Given the description of an element on the screen output the (x, y) to click on. 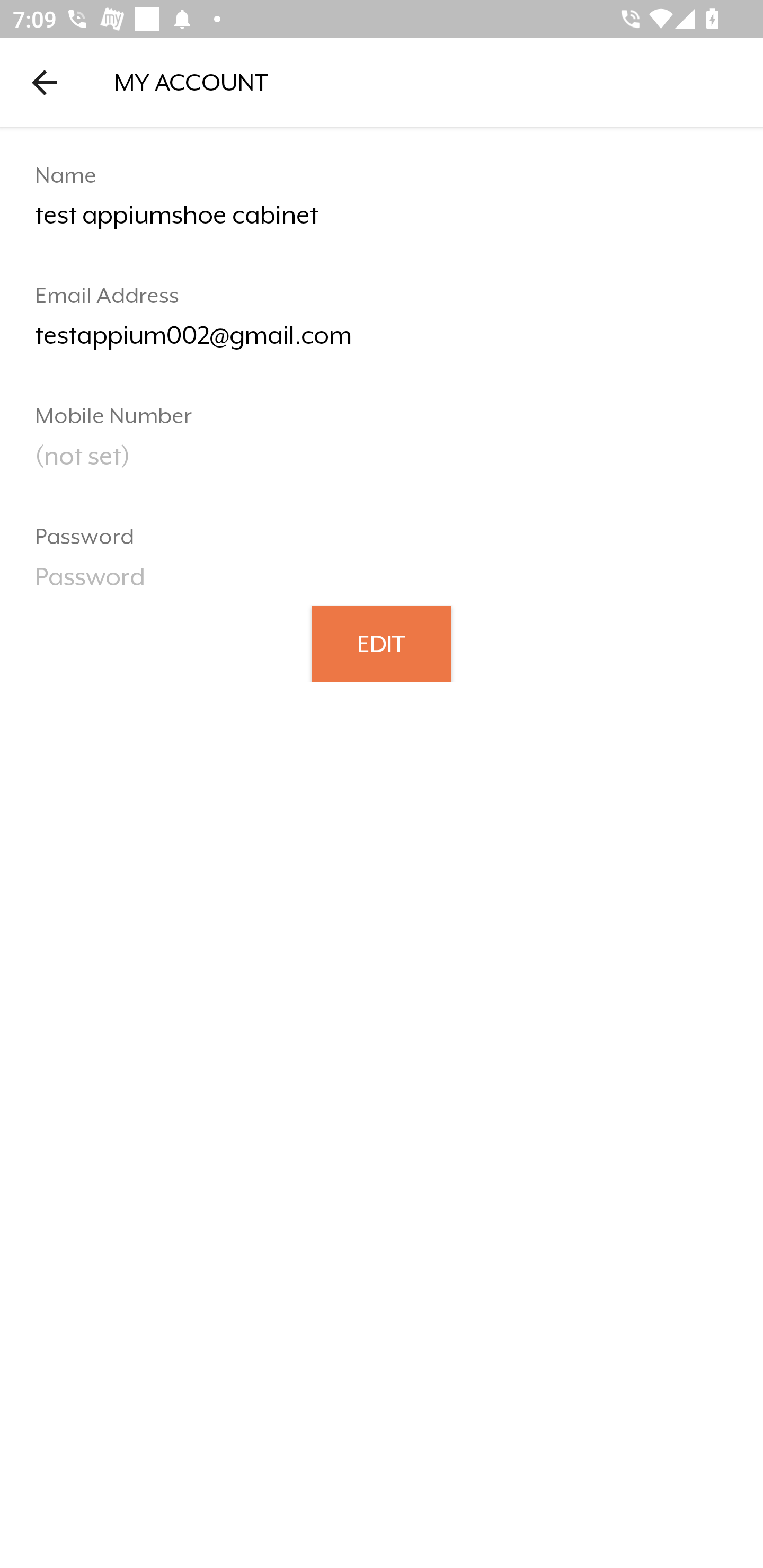
Navigate up (44, 82)
test appiumshoe cabinet (381, 222)
testappium002@gmail.com (381, 342)
Password (381, 583)
EDIT (381, 643)
